Given the description of an element on the screen output the (x, y) to click on. 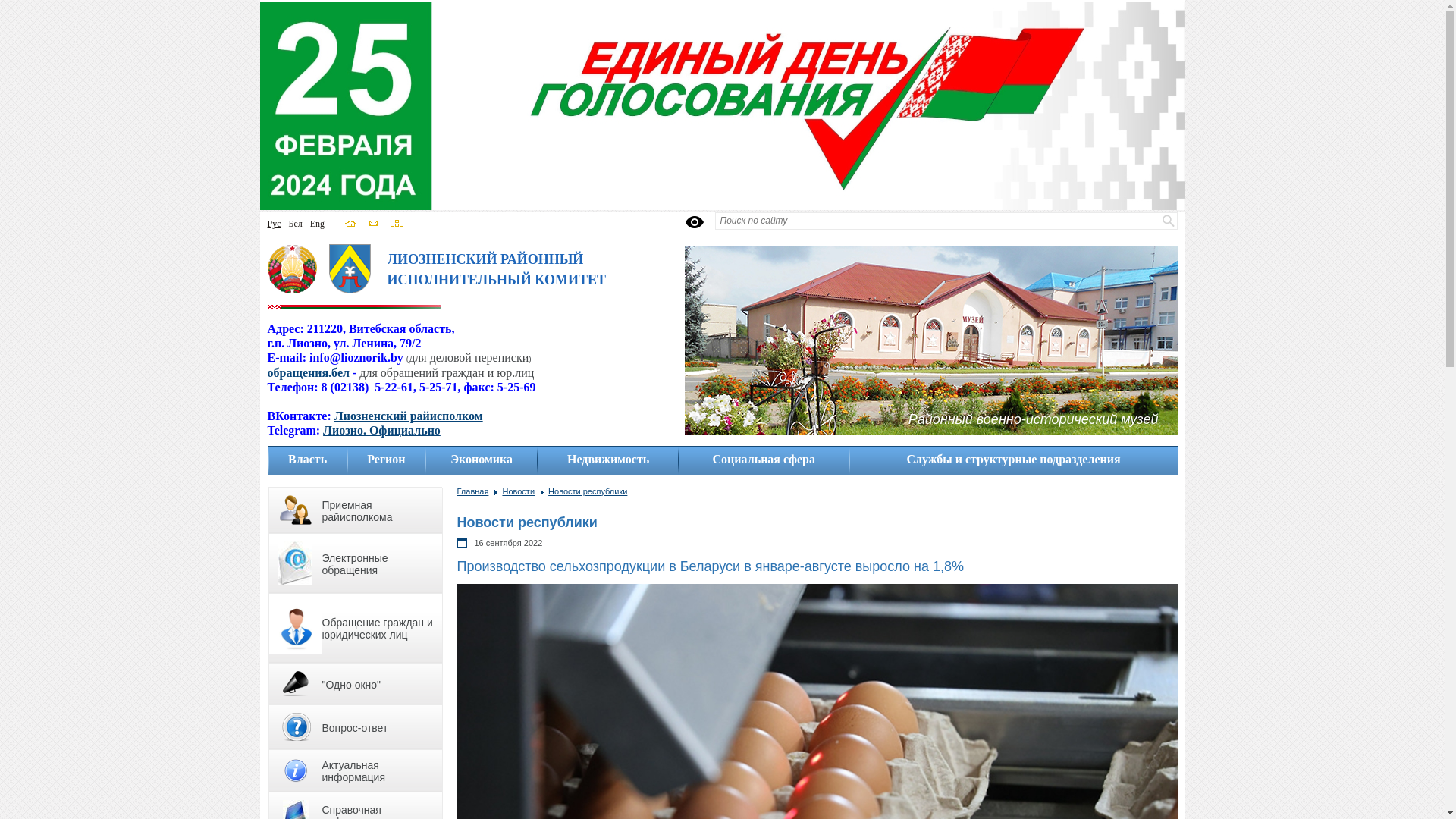
Eng Element type: text (317, 223)
